Given the description of an element on the screen output the (x, y) to click on. 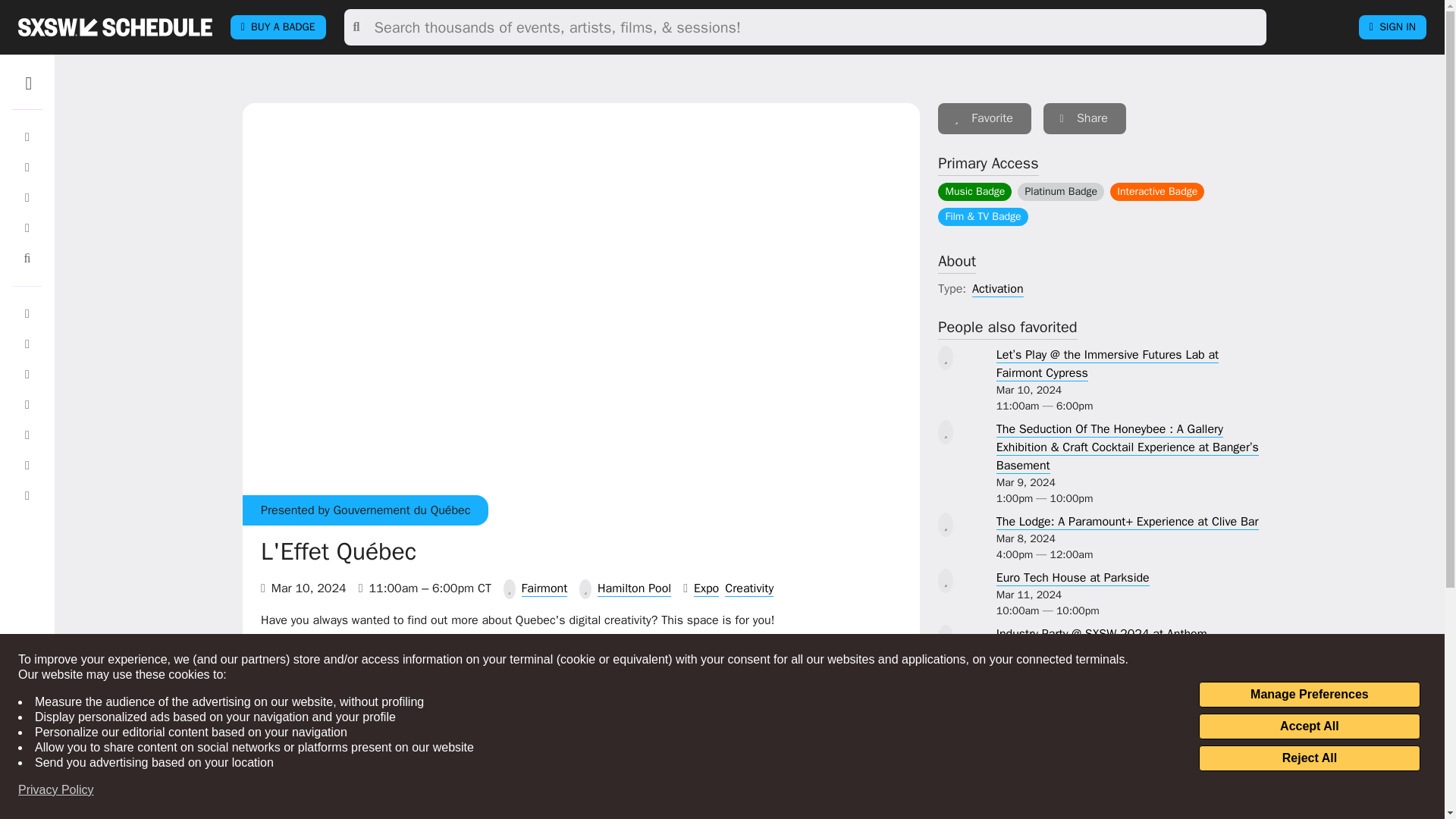
Manage Preferences (1309, 694)
Accept All (1309, 726)
Fairmont (544, 588)
Privacy Policy (55, 789)
Reject All (1309, 758)
BUY A BADGE (278, 27)
sxsw SCHEDULE (114, 27)
SIGN IN (1392, 27)
Sign In to add to your favorites. (983, 118)
